Given the description of an element on the screen output the (x, y) to click on. 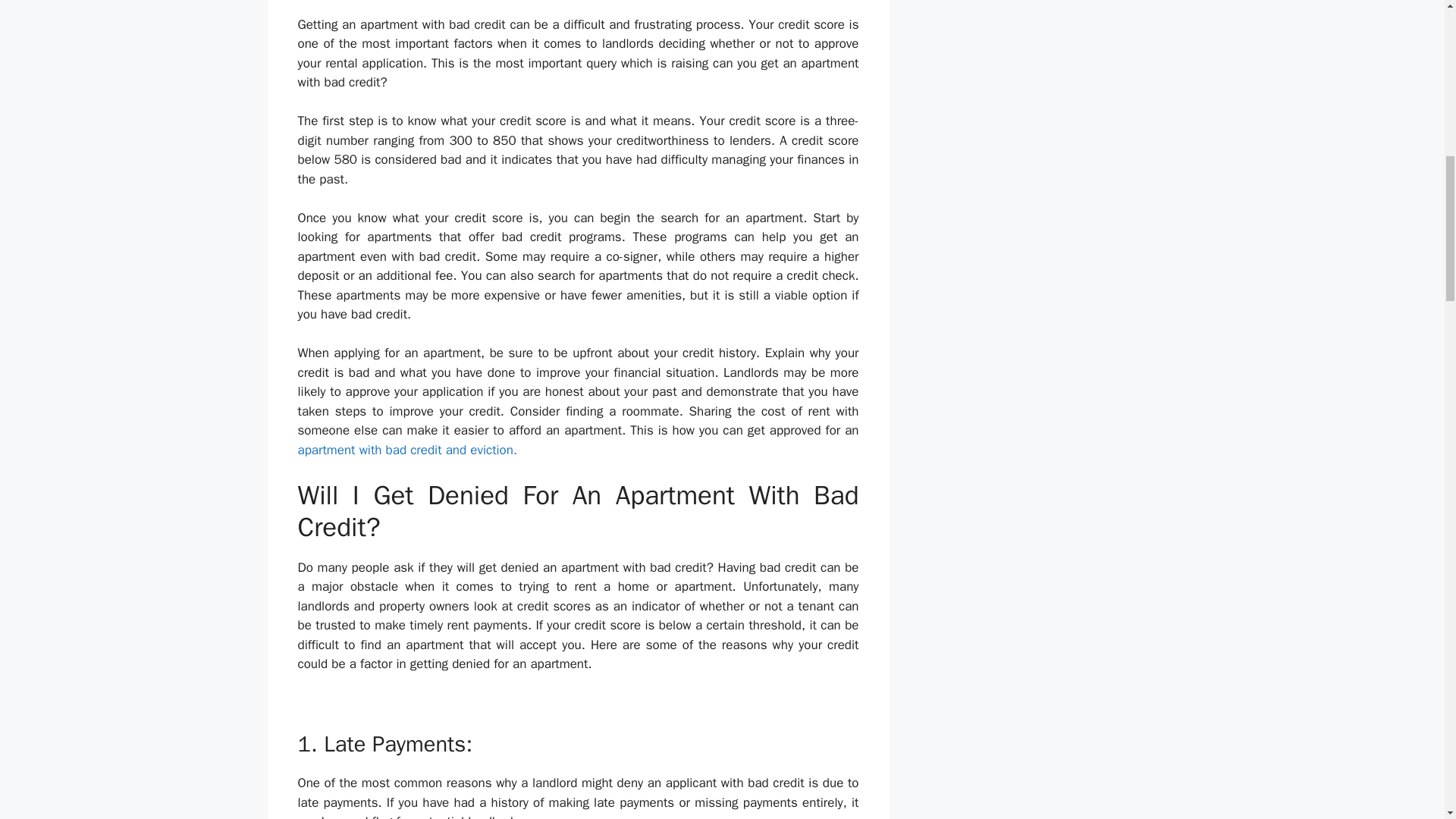
apartment with bad credit and eviction. (406, 449)
